Given the description of an element on the screen output the (x, y) to click on. 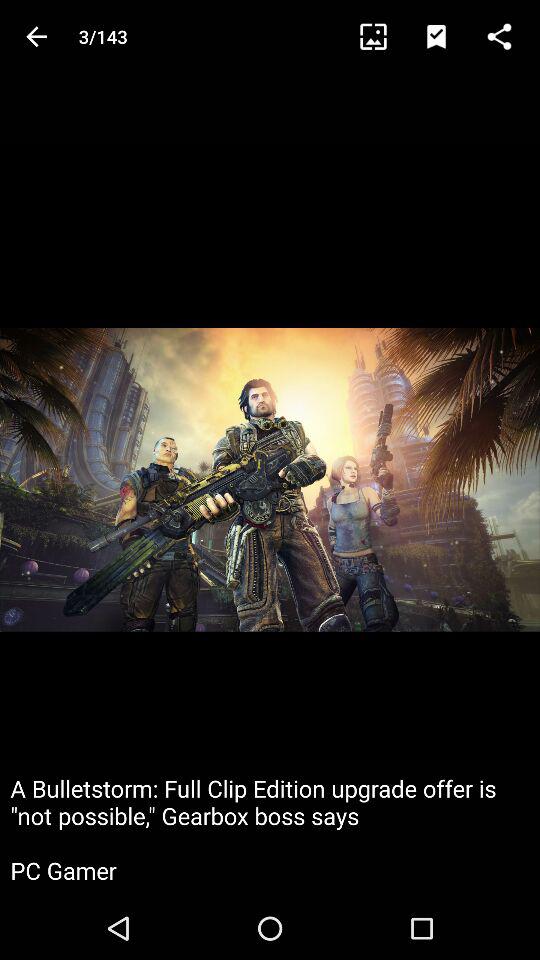
turn off the item to the right of 3/143 icon (381, 36)
